Given the description of an element on the screen output the (x, y) to click on. 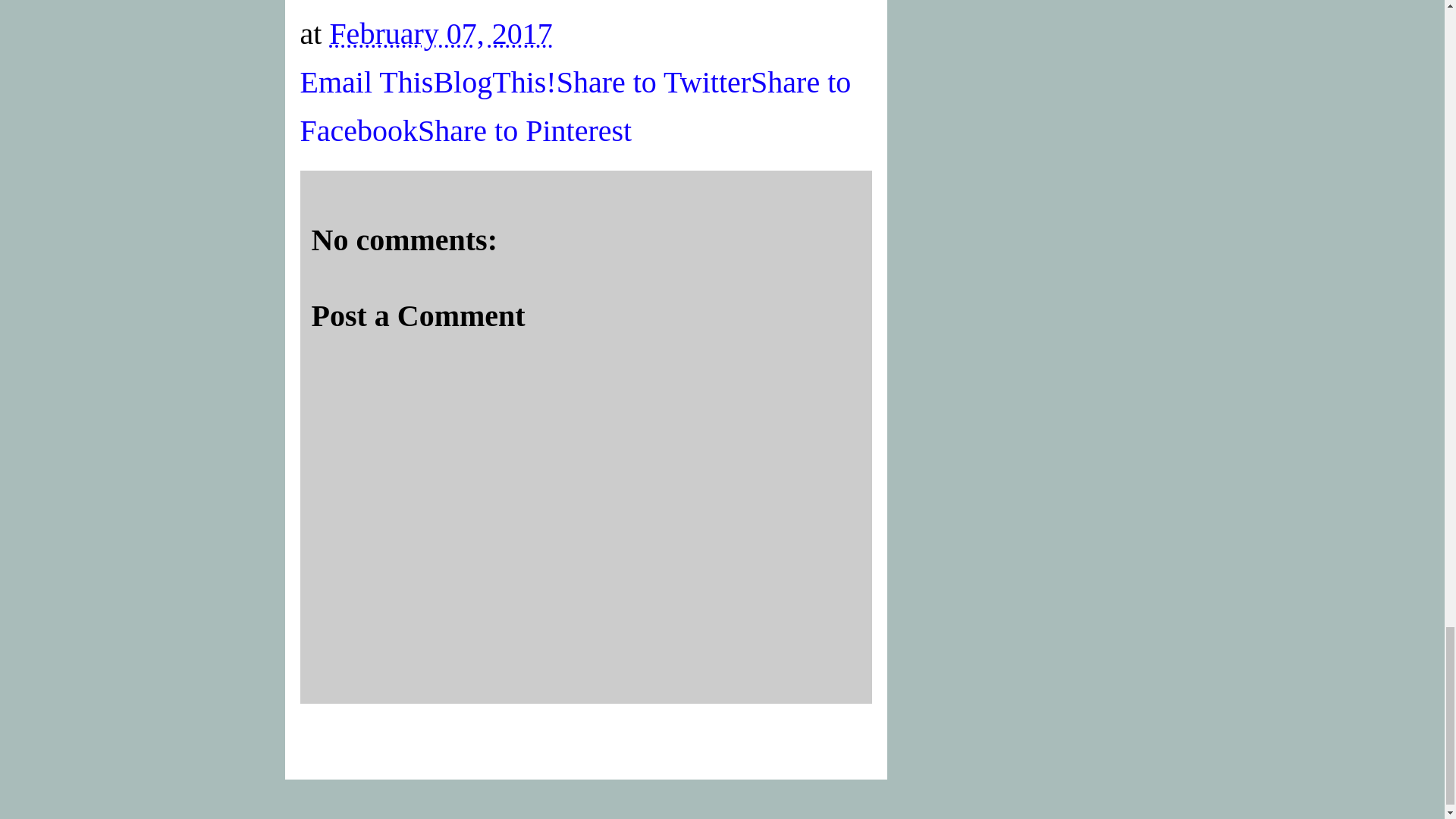
Email This (366, 82)
permanent link (440, 33)
Share to Pinterest (524, 130)
BlogThis! (494, 82)
Share to Twitter (653, 82)
Share to Twitter (653, 82)
Share to Facebook (575, 106)
Share to Facebook (575, 106)
Email This (366, 82)
BlogThis! (494, 82)
